Given the description of an element on the screen output the (x, y) to click on. 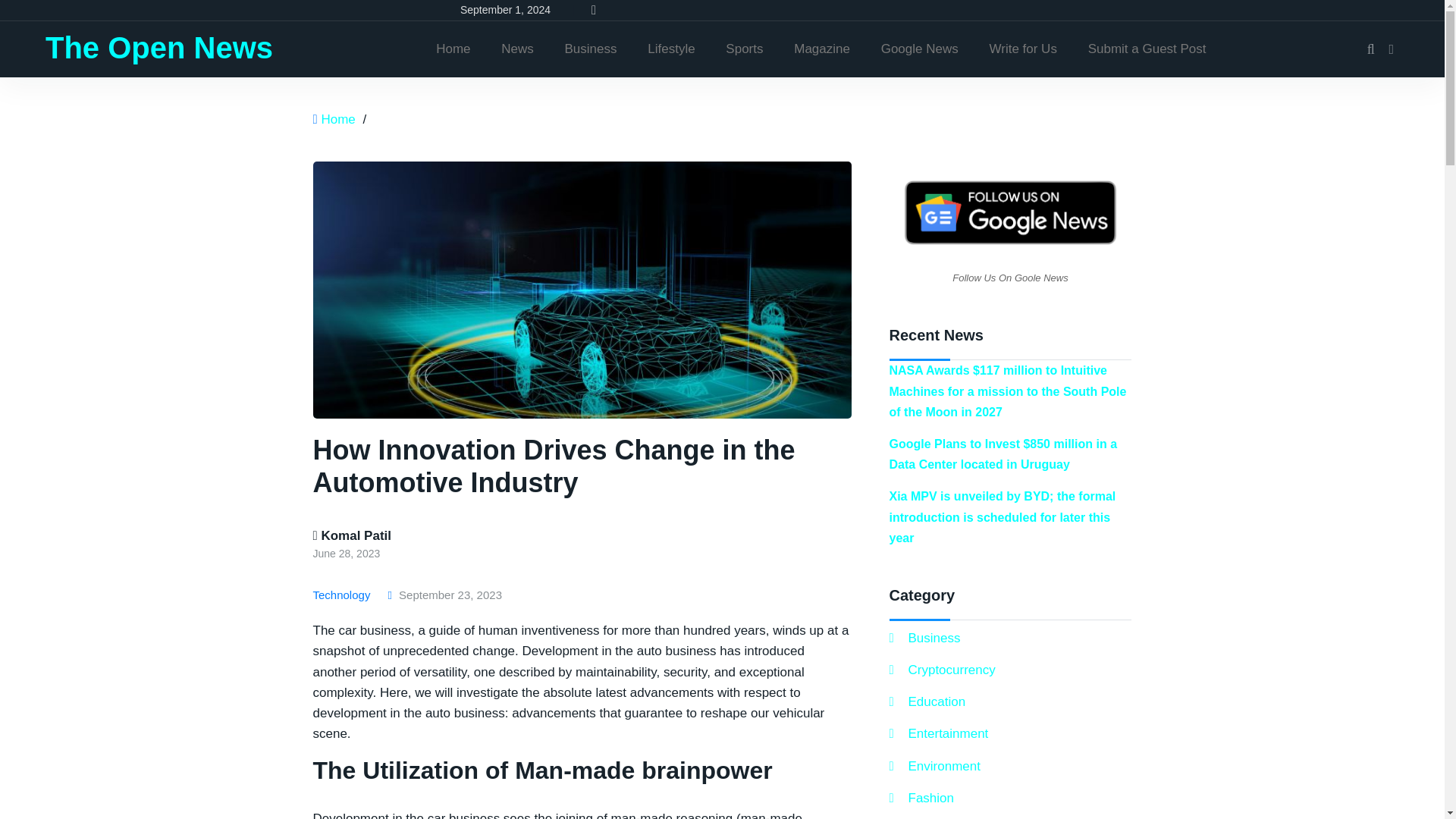
Home (337, 119)
The Open News (159, 47)
Education (926, 701)
Entertainment (938, 733)
Home (452, 48)
News (517, 48)
Lifestyle (670, 48)
Environment (933, 765)
Technology (344, 594)
